Given the description of an element on the screen output the (x, y) to click on. 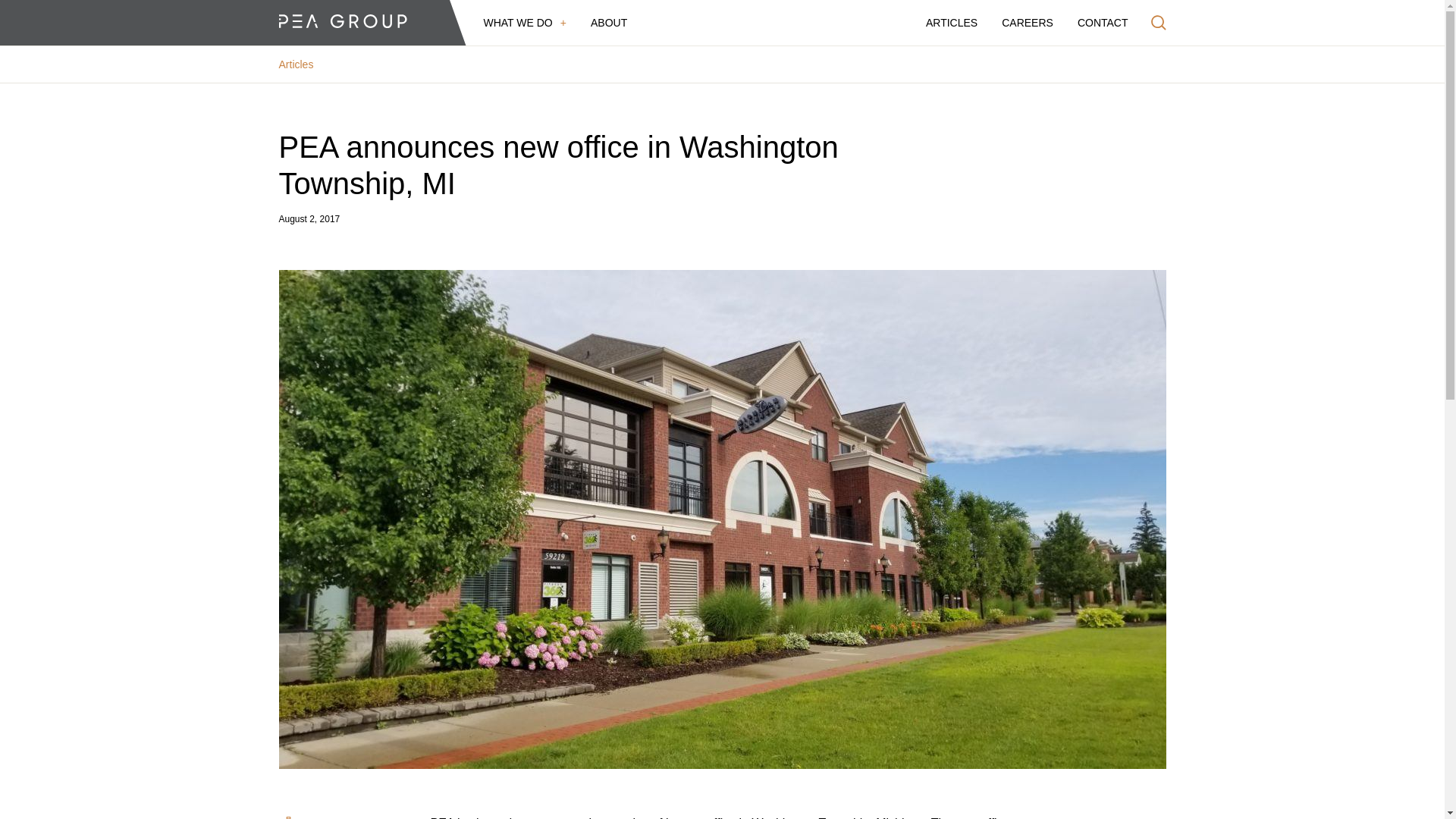
CAREERS (1026, 22)
Search (1158, 22)
ARTICLES (951, 22)
CONTACT (1102, 22)
Home (343, 23)
ABOUT (609, 22)
